Given the description of an element on the screen output the (x, y) to click on. 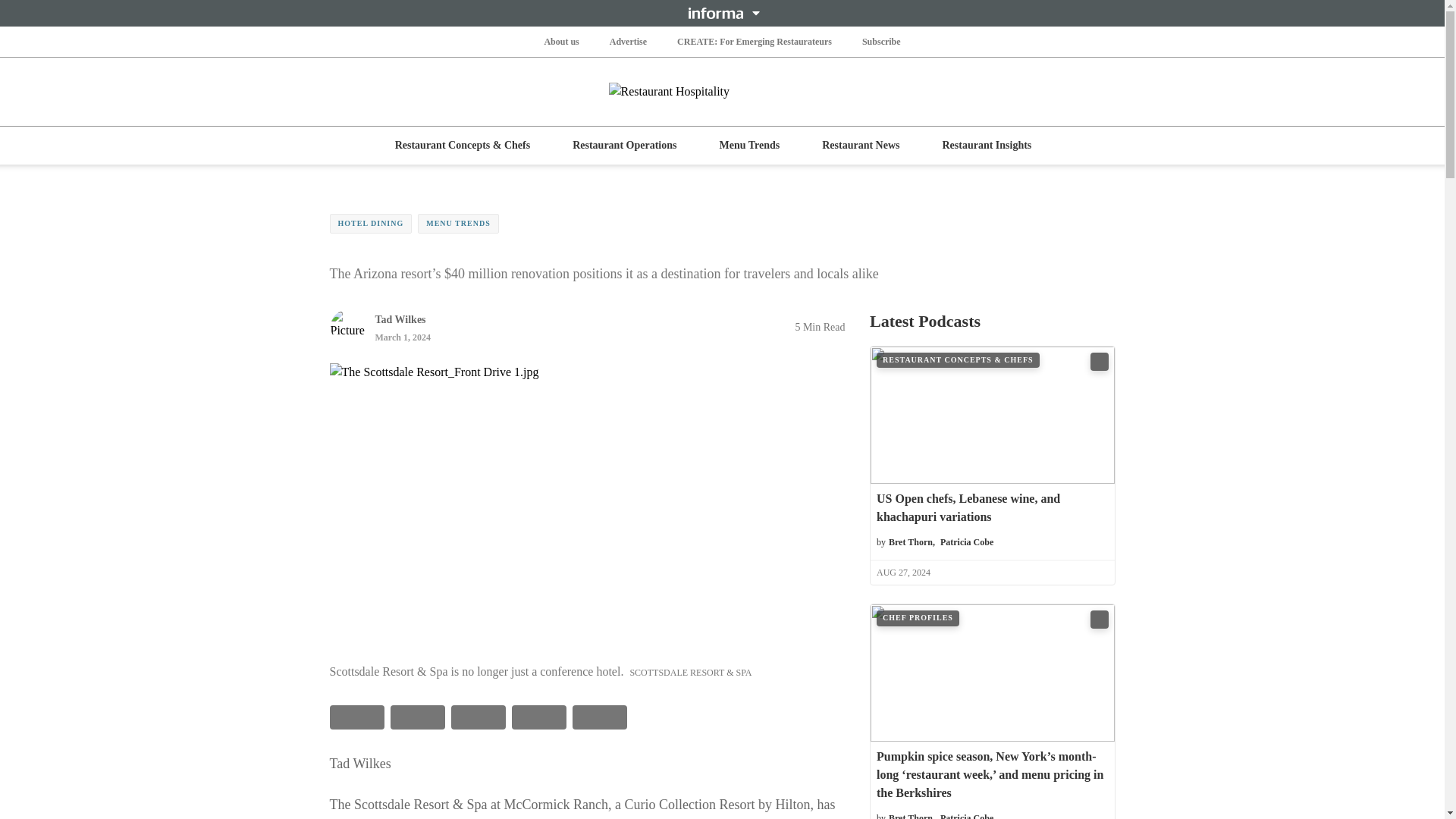
Picture of Tad Wilkes (347, 326)
Restaurant Hospitality (721, 91)
CREATE: For Emerging Restaurateurs (754, 41)
Advertise (628, 41)
About us (560, 41)
Subscribe (881, 41)
